Given the description of an element on the screen output the (x, y) to click on. 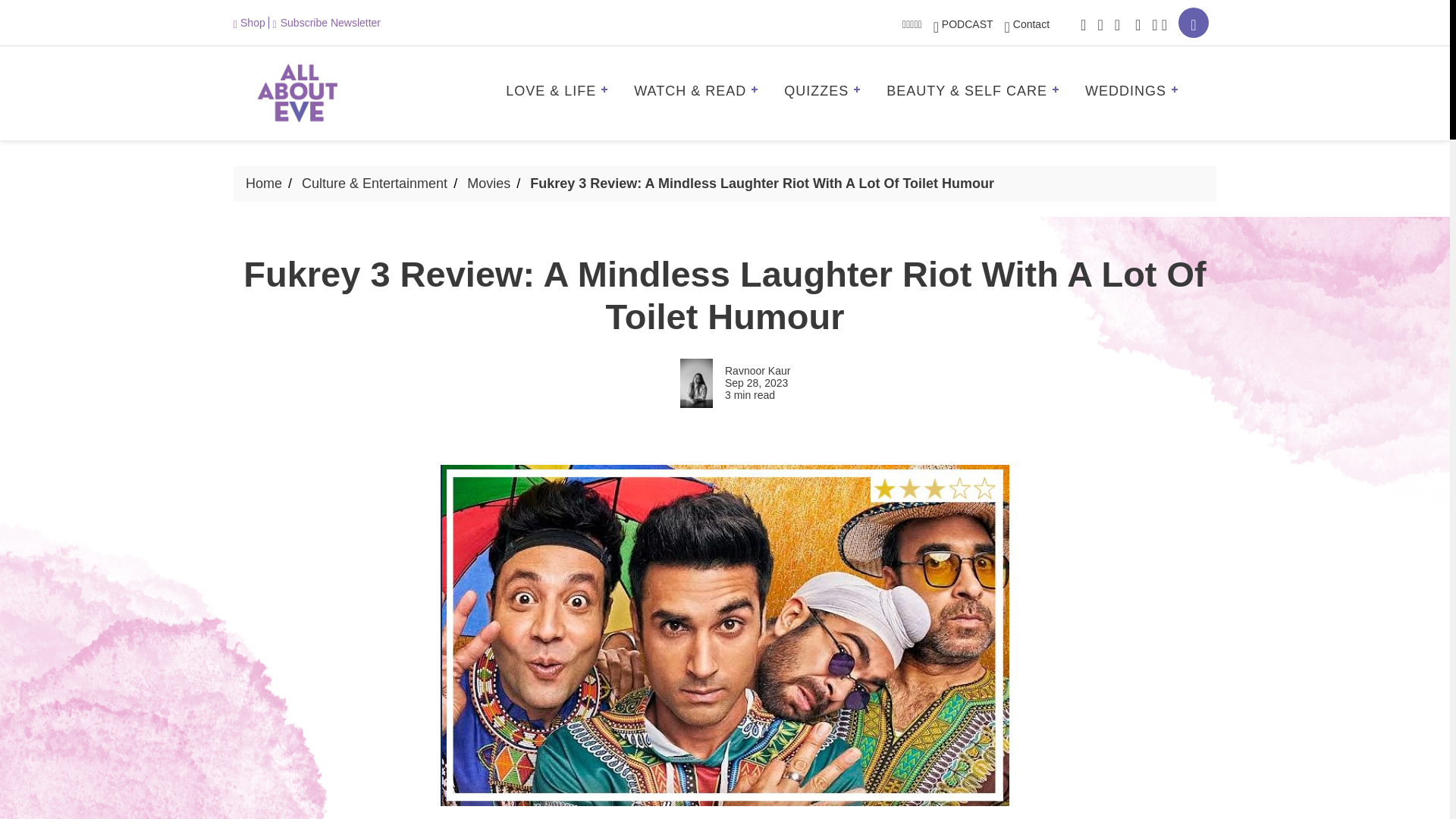
Shop (250, 22)
Home (264, 183)
Contact (1026, 24)
QUIZZES (827, 92)
Subscribe Newsletter (326, 22)
PODCAST (962, 24)
